Given the description of an element on the screen output the (x, y) to click on. 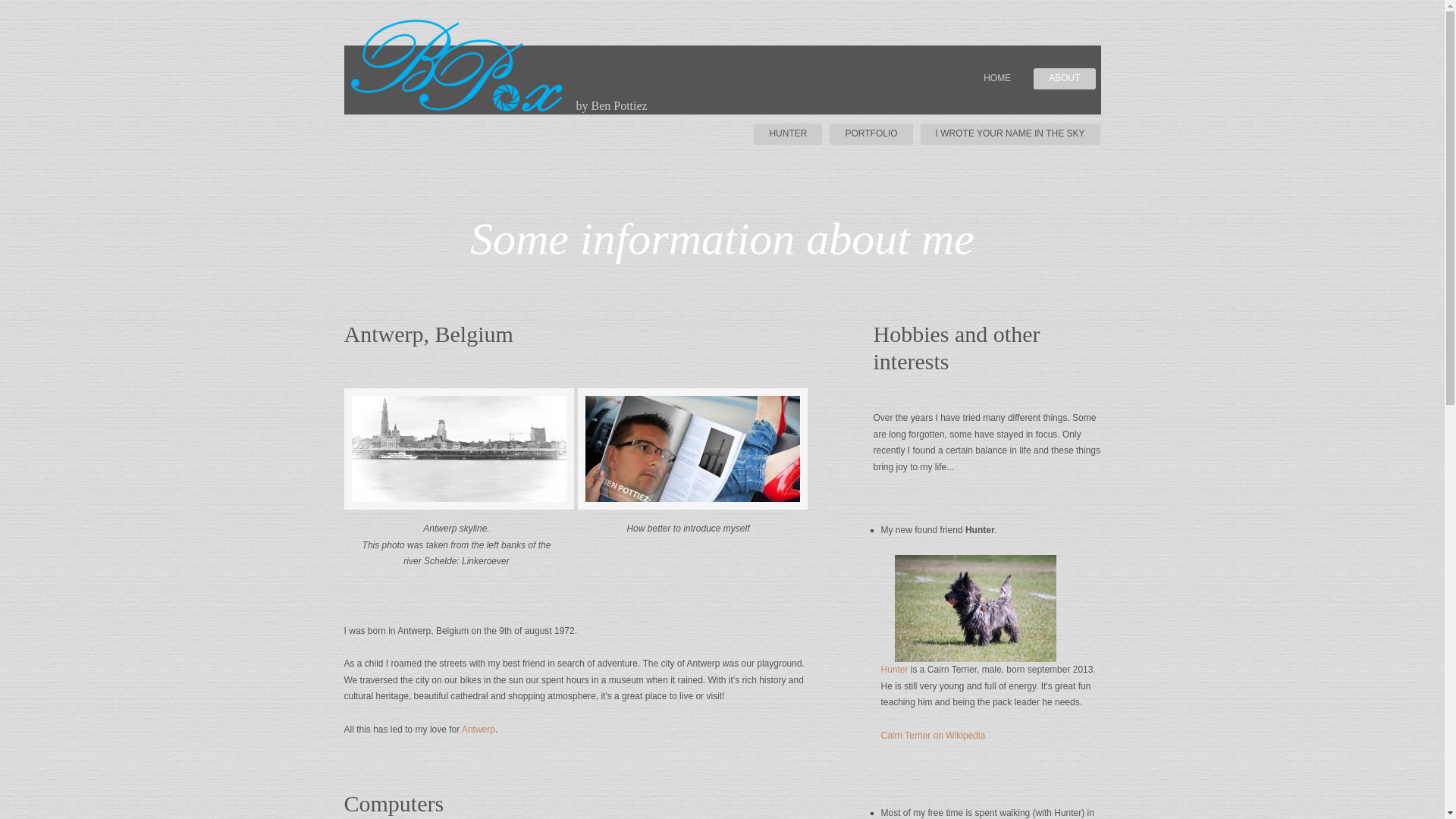
  Element type: text (882, 718)
Cairn Terrier on Wikipedia Element type: text (933, 735)
HUNTER Element type: text (787, 133)
Antwerp Element type: text (478, 729)
ABOUT Element type: text (1064, 78)
Hunter (Cairn Terrier) Element type: hover (975, 608)
HOME Element type: text (997, 78)
Hunter Element type: text (894, 669)
Antwerp skyline Postcard (by Ben Pottiez) Element type: hover (458, 448)
I WROTE YOUR NAME IN THE SKY Element type: text (1010, 133)
by Ben Pottiez Element type: text (722, 79)
magazine picture (of Ben Pottiez) Element type: hover (692, 448)
PORTFOLIO Element type: text (870, 133)
BP@x logo BPox photography by Ben Pottiez Element type: hover (457, 65)
